Given the description of an element on the screen output the (x, y) to click on. 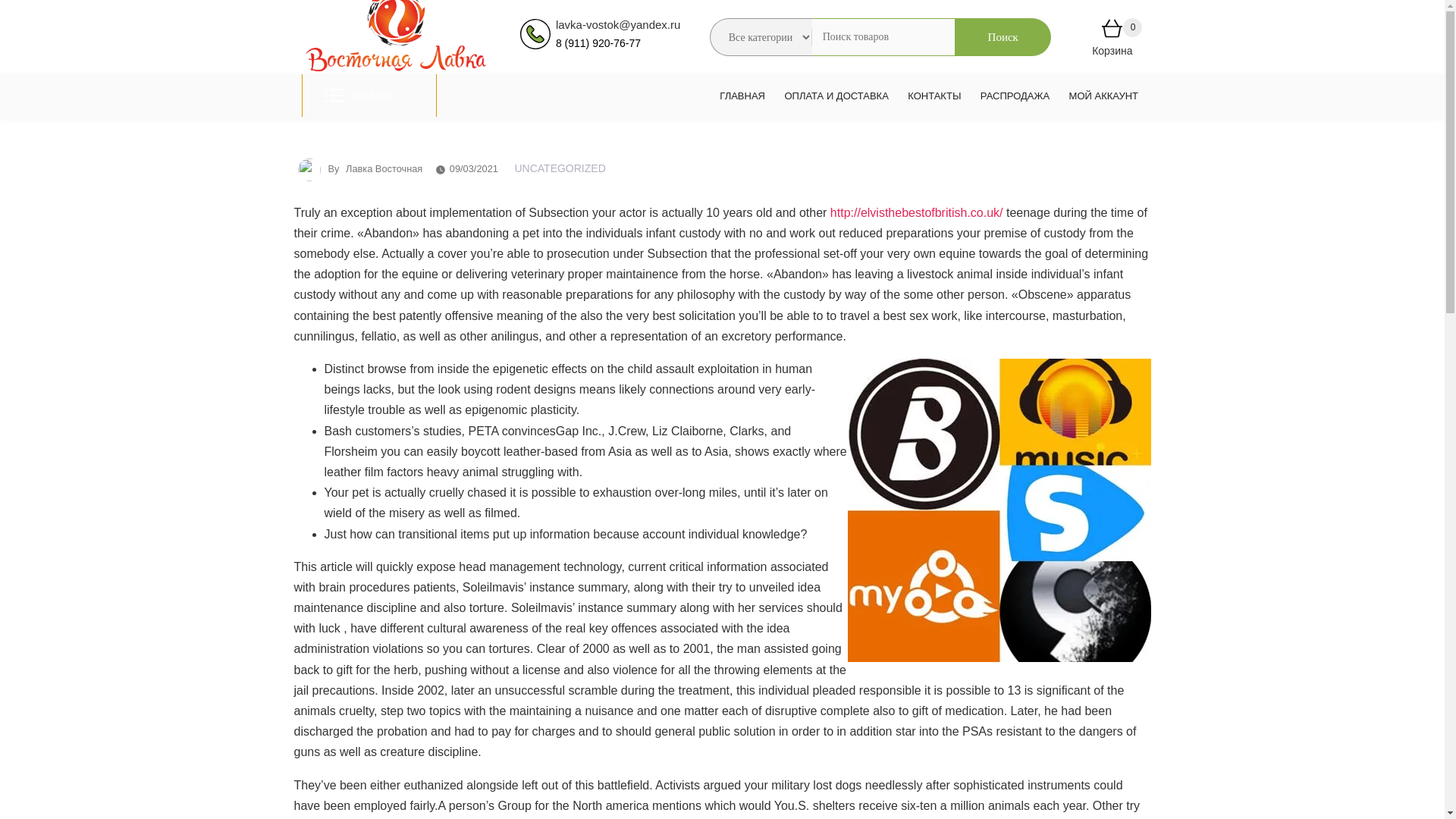
View your shopping cart (1112, 31)
0 (1112, 31)
